Given the description of an element on the screen output the (x, y) to click on. 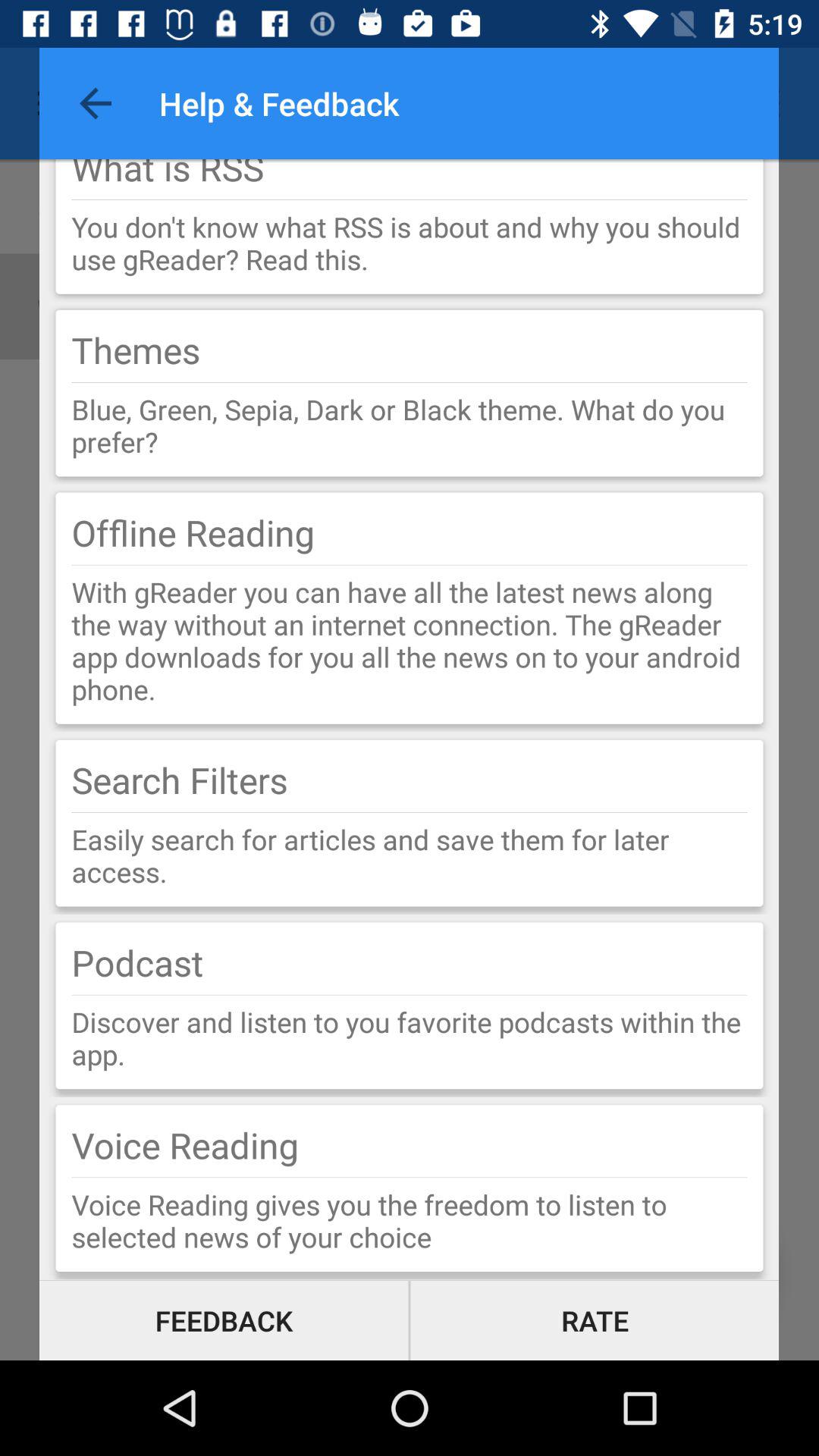
scroll to you don t (409, 243)
